Given the description of an element on the screen output the (x, y) to click on. 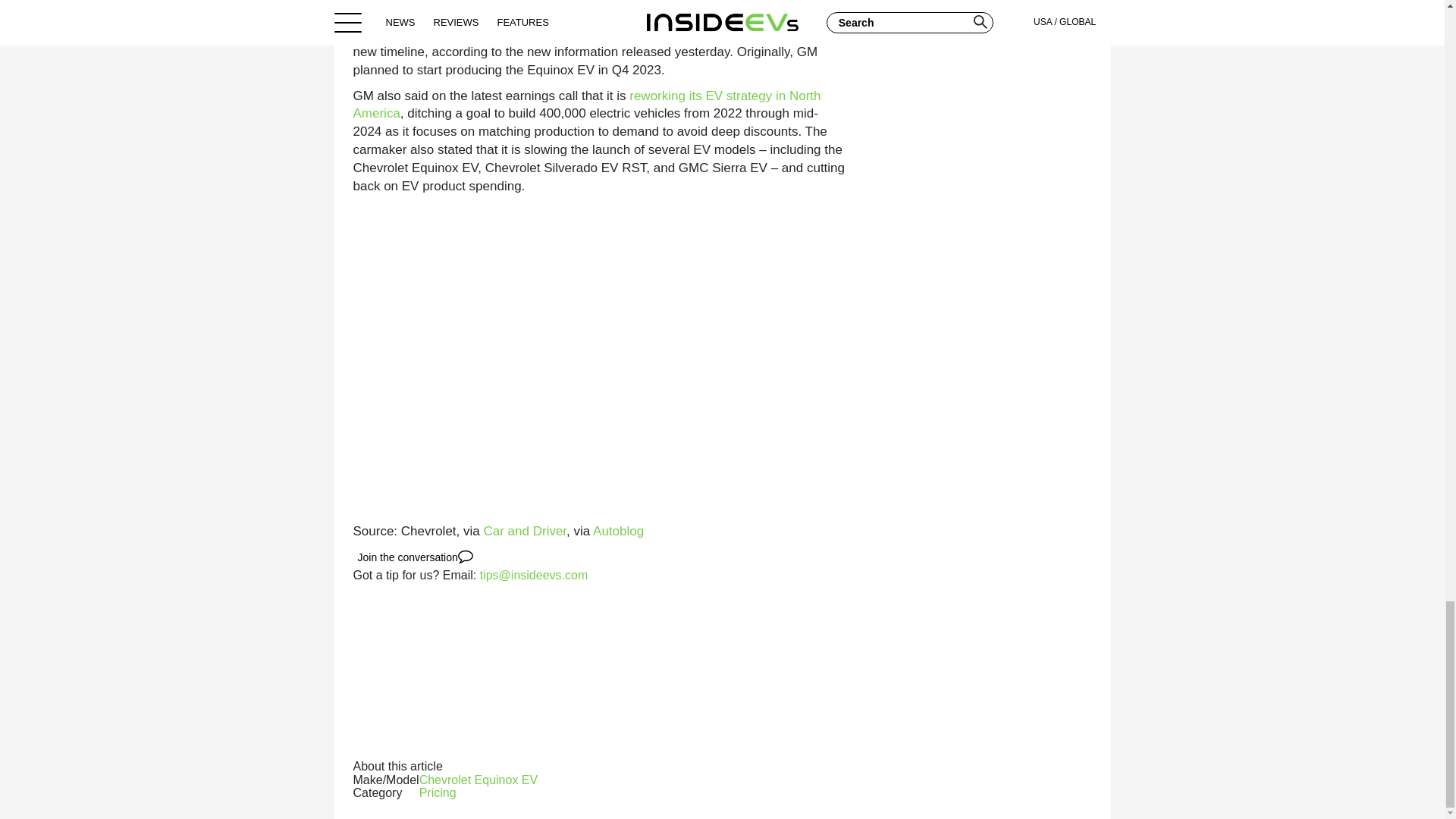
reworking its EV strategy in North America (587, 104)
Car and Driver (525, 531)
Autoblog (617, 531)
